Given the description of an element on the screen output the (x, y) to click on. 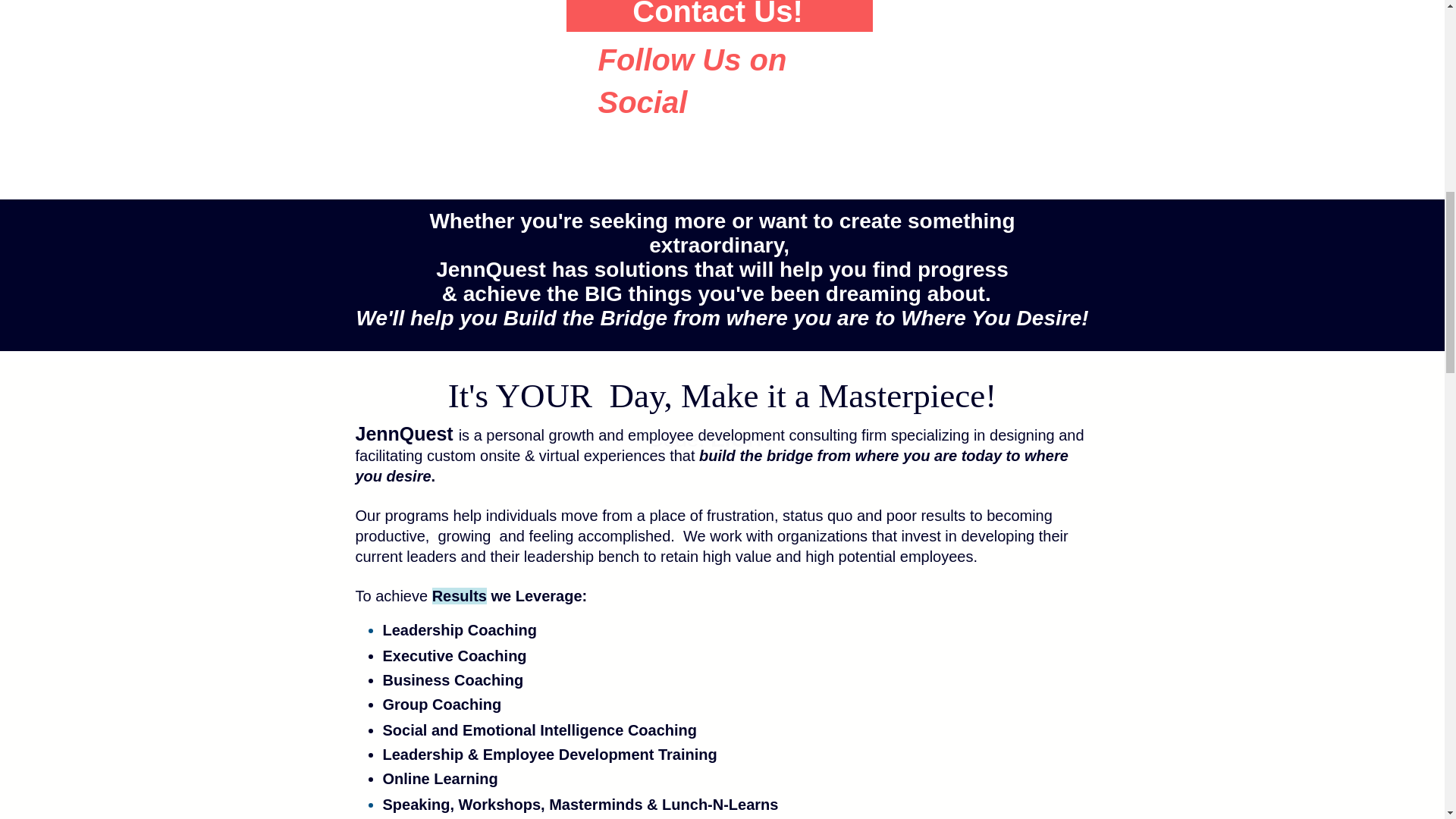
JennQuest (490, 269)
 we Leverage:  (538, 596)
Contact Us! (719, 15)
Results (459, 596)
